Given the description of an element on the screen output the (x, y) to click on. 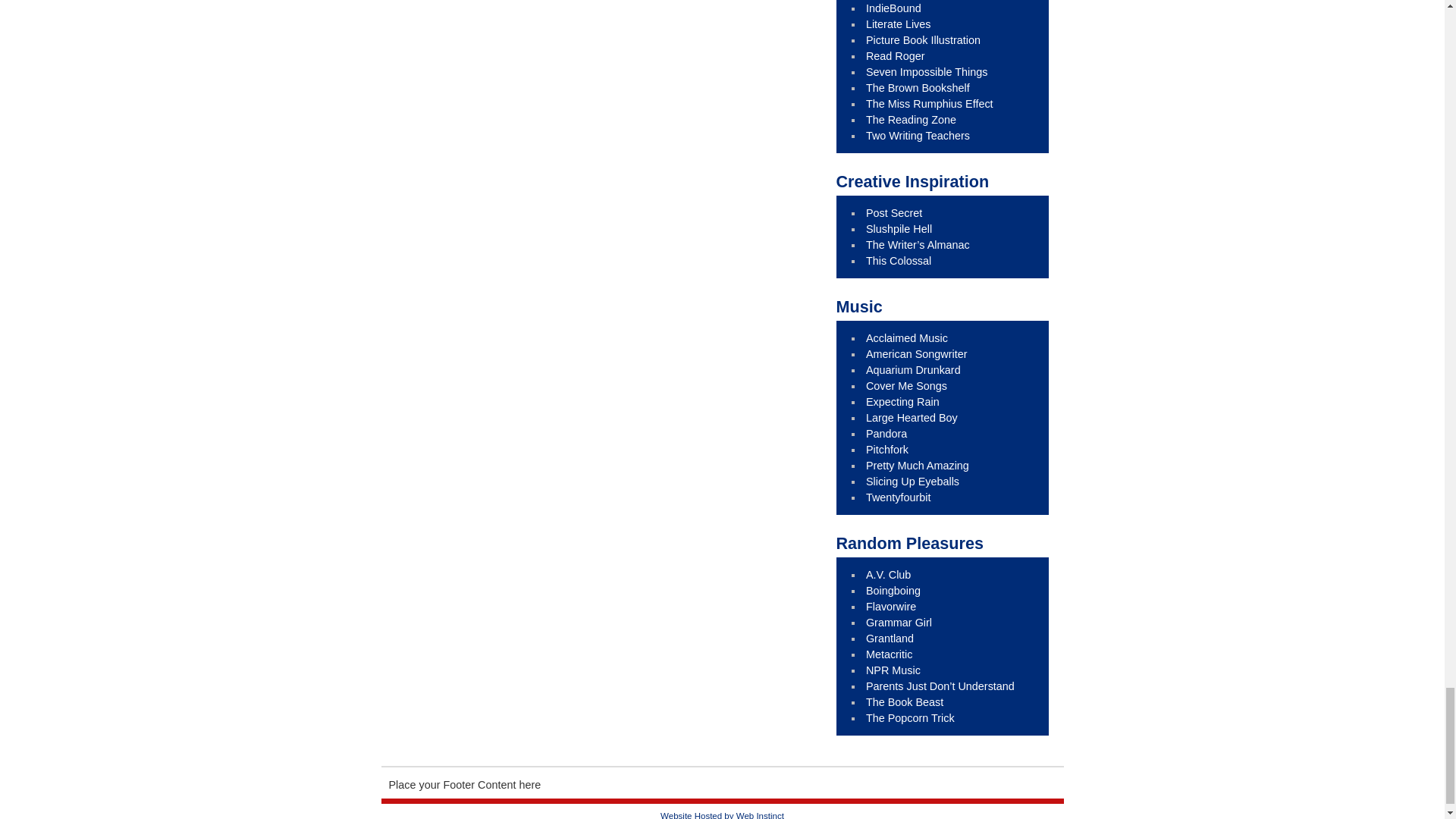
Book News and Recommendations (893, 8)
Quick. Lively. Beautiful. Artistic. Fun. (922, 39)
